Given the description of an element on the screen output the (x, y) to click on. 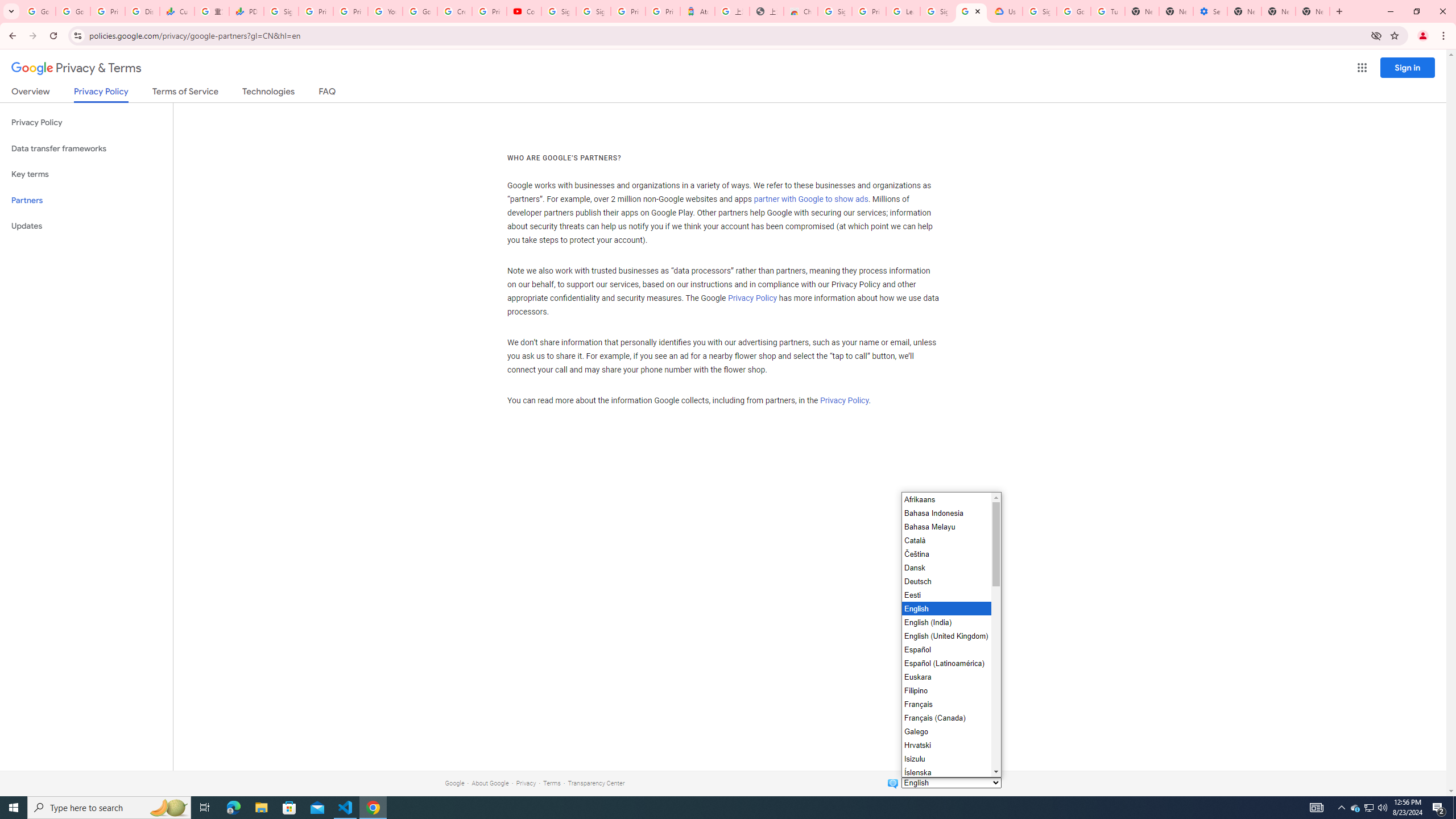
Google Account Help (1073, 11)
Google Workspace Admin Community (38, 11)
Create your Google Account (454, 11)
Turn cookies on or off - Computer - Google Account Help (1107, 11)
